Given the description of an element on the screen output the (x, y) to click on. 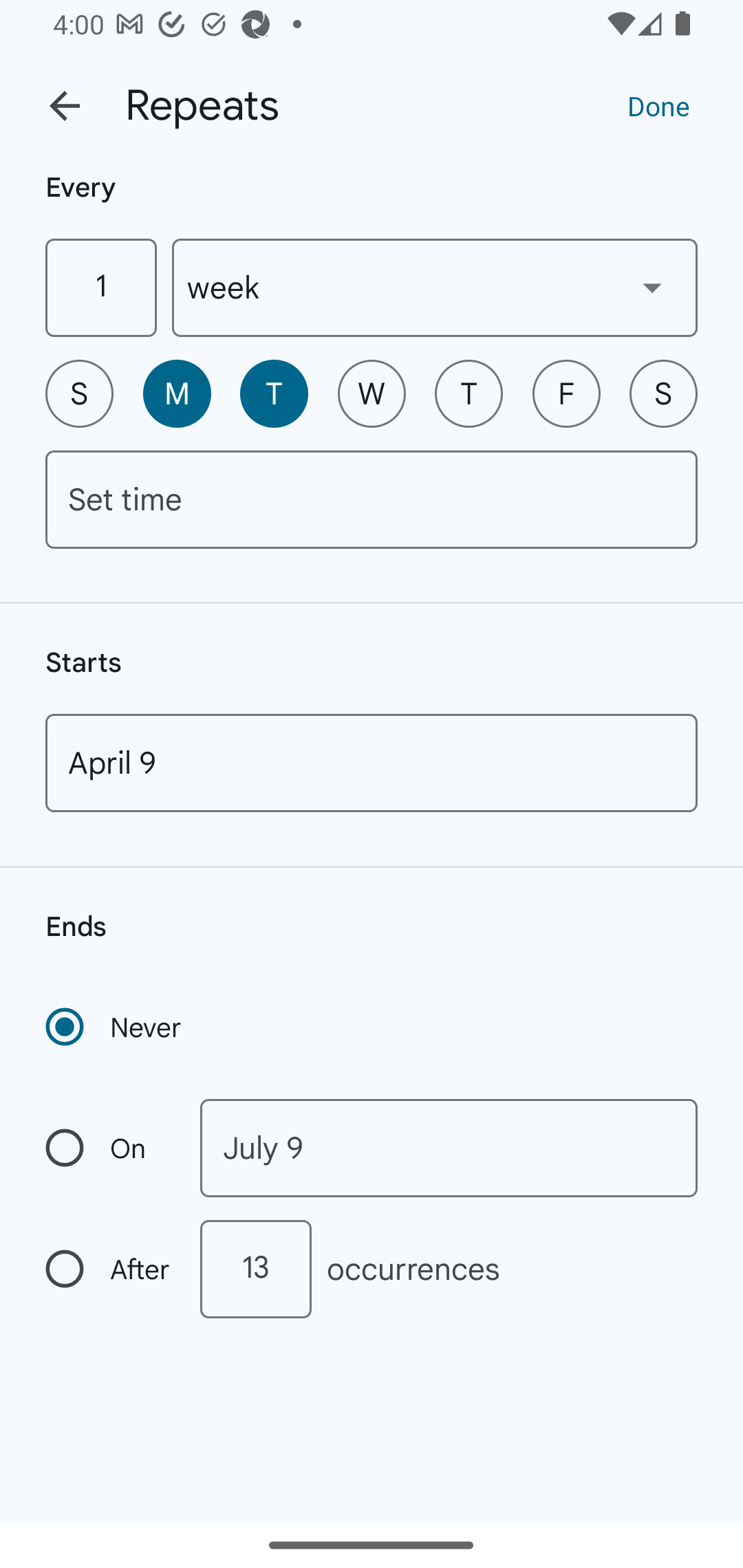
Back (64, 105)
Done (658, 105)
1 (100, 287)
week (434, 287)
Show dropdown menu (652, 286)
S Sunday (79, 393)
M Monday, selected (177, 393)
T Tuesday, selected (273, 393)
W Wednesday (371, 393)
T Thursday (468, 393)
F Friday (566, 393)
S Saturday (663, 393)
Set time (371, 499)
April 9 (371, 762)
Never Recurrence never ends (115, 1026)
July 9 (448, 1148)
On Recurrence ends on a specific date (109, 1148)
13 (255, 1268)
